Given the description of an element on the screen output the (x, y) to click on. 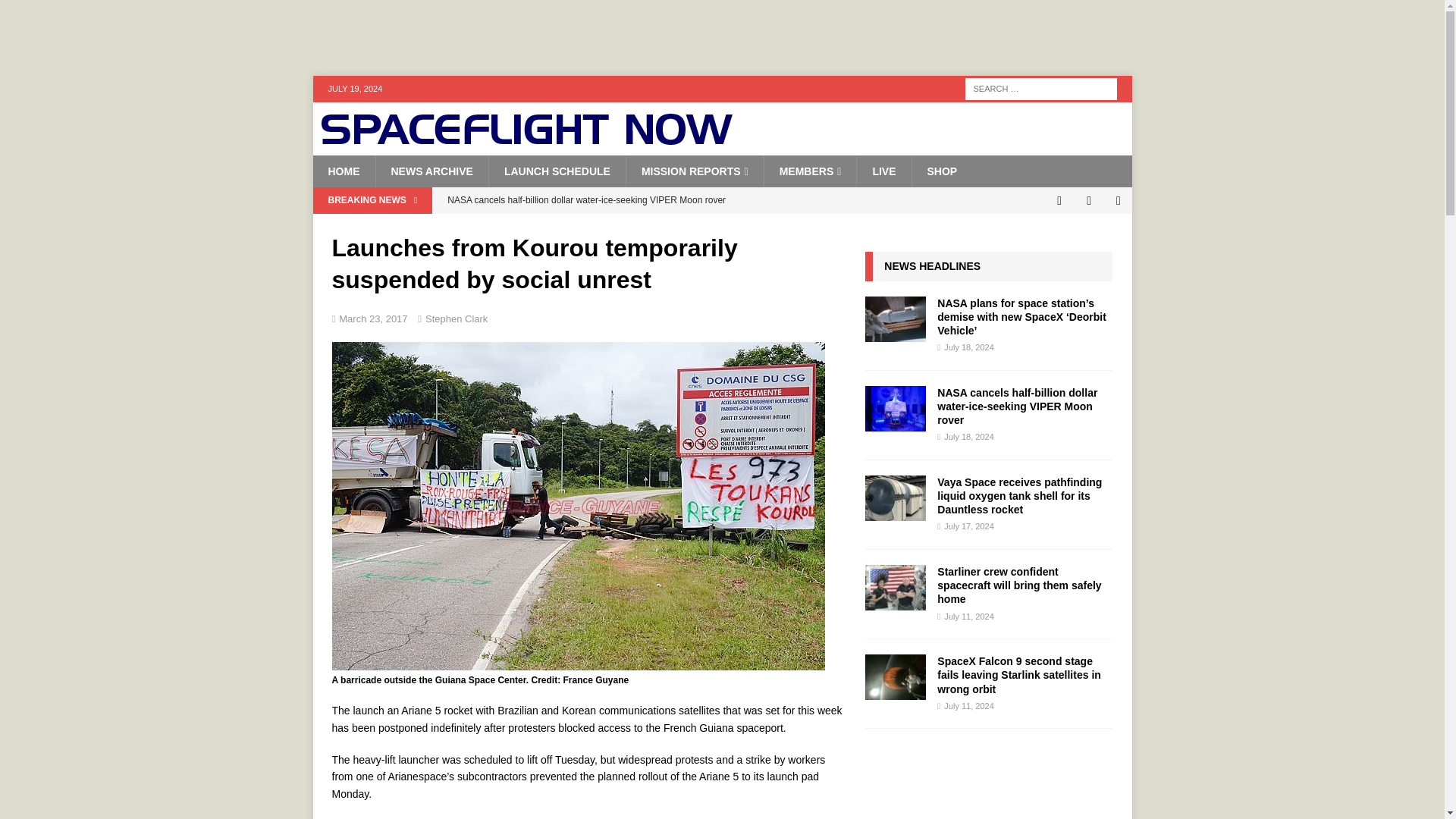
Spaceflight Now (526, 139)
HOME (343, 171)
Search (56, 11)
NEWS ARCHIVE (430, 171)
LAUNCH SCHEDULE (556, 171)
MEMBERS (809, 171)
MISSION REPORTS (694, 171)
